Given the description of an element on the screen output the (x, y) to click on. 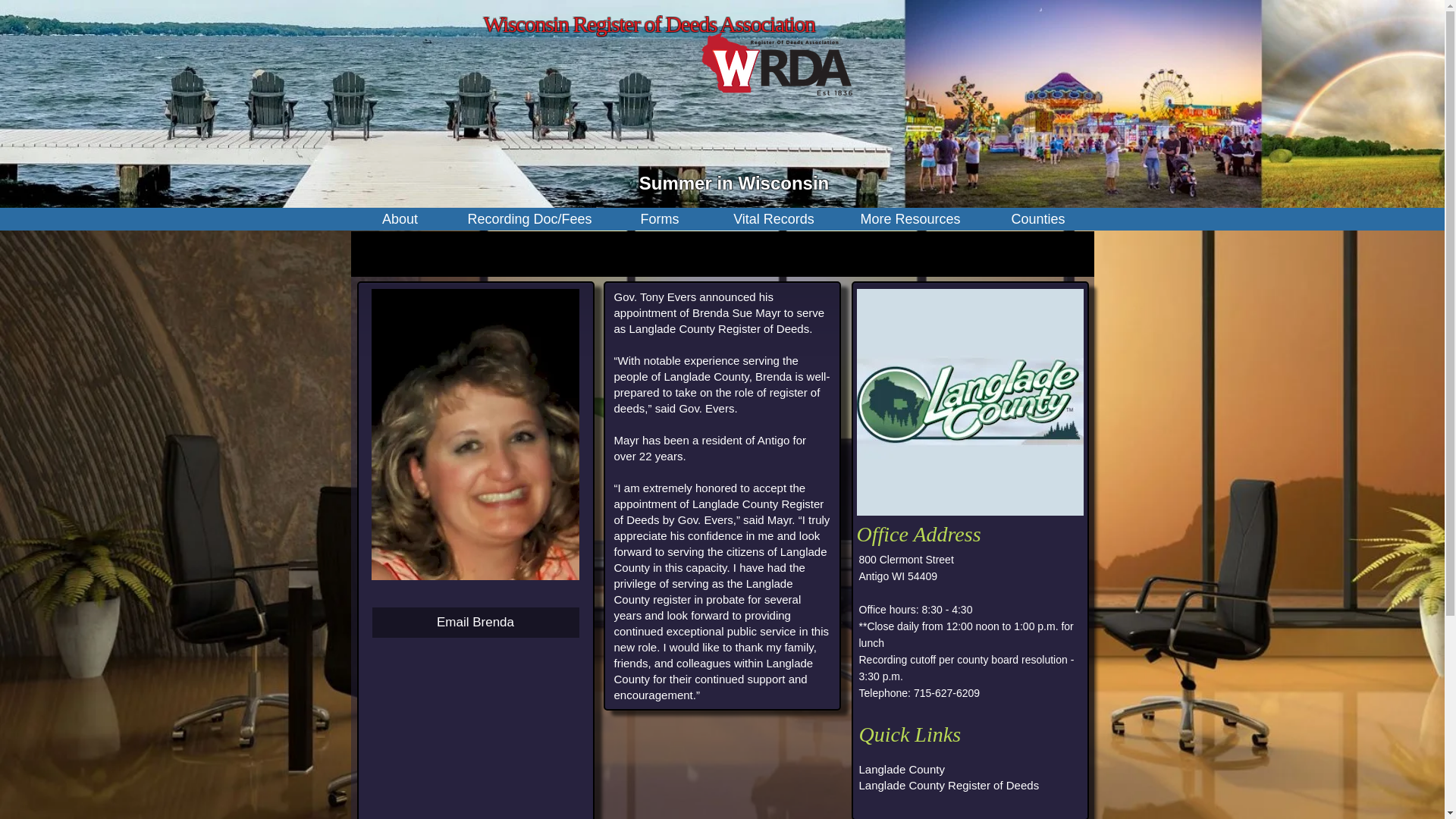
Counties (1038, 219)
About (399, 219)
Forms (659, 219)
Wisconsin Register of Deeds Association (649, 23)
